Given the description of an element on the screen output the (x, y) to click on. 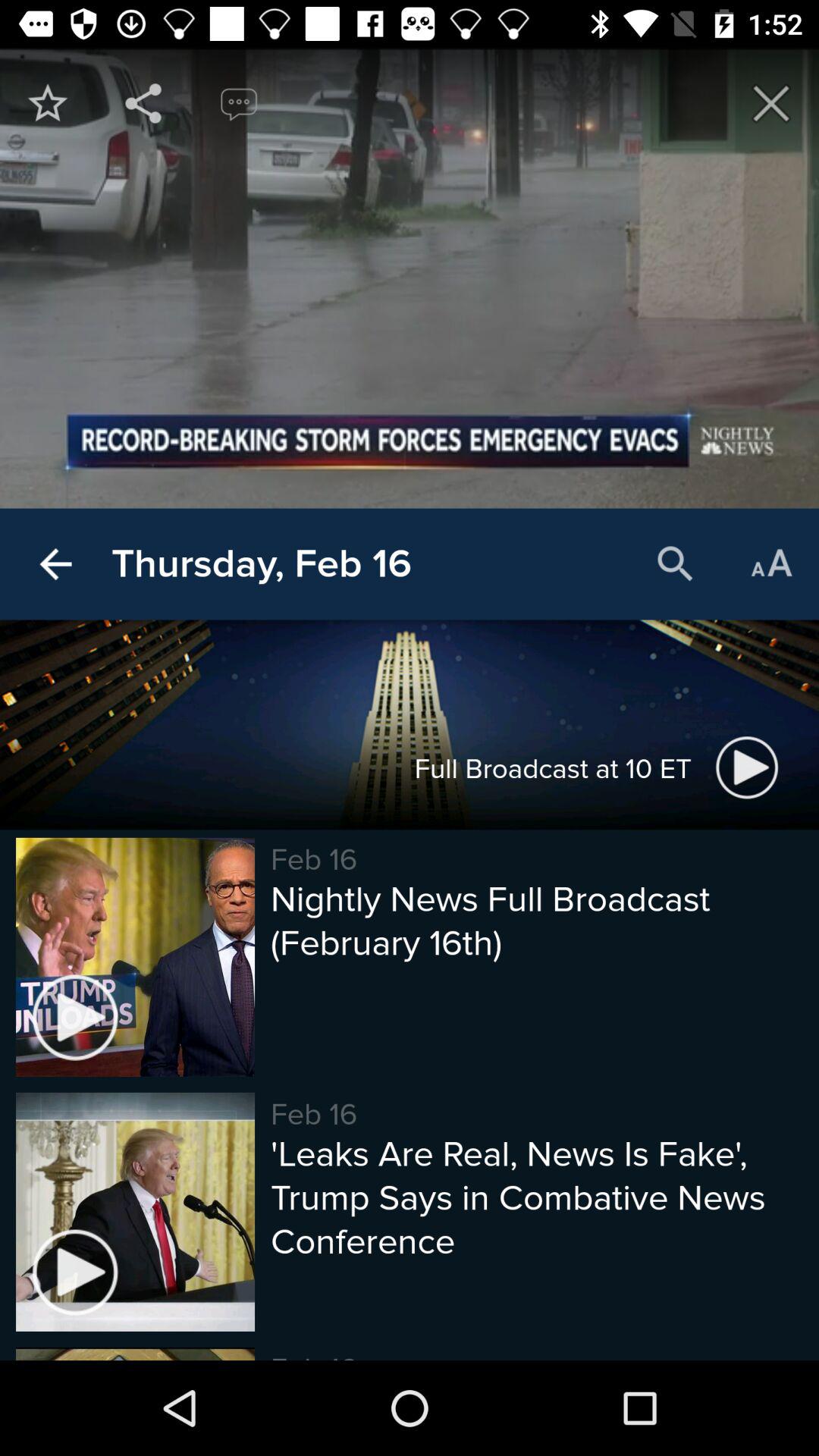
share (143, 103)
